Given the description of an element on the screen output the (x, y) to click on. 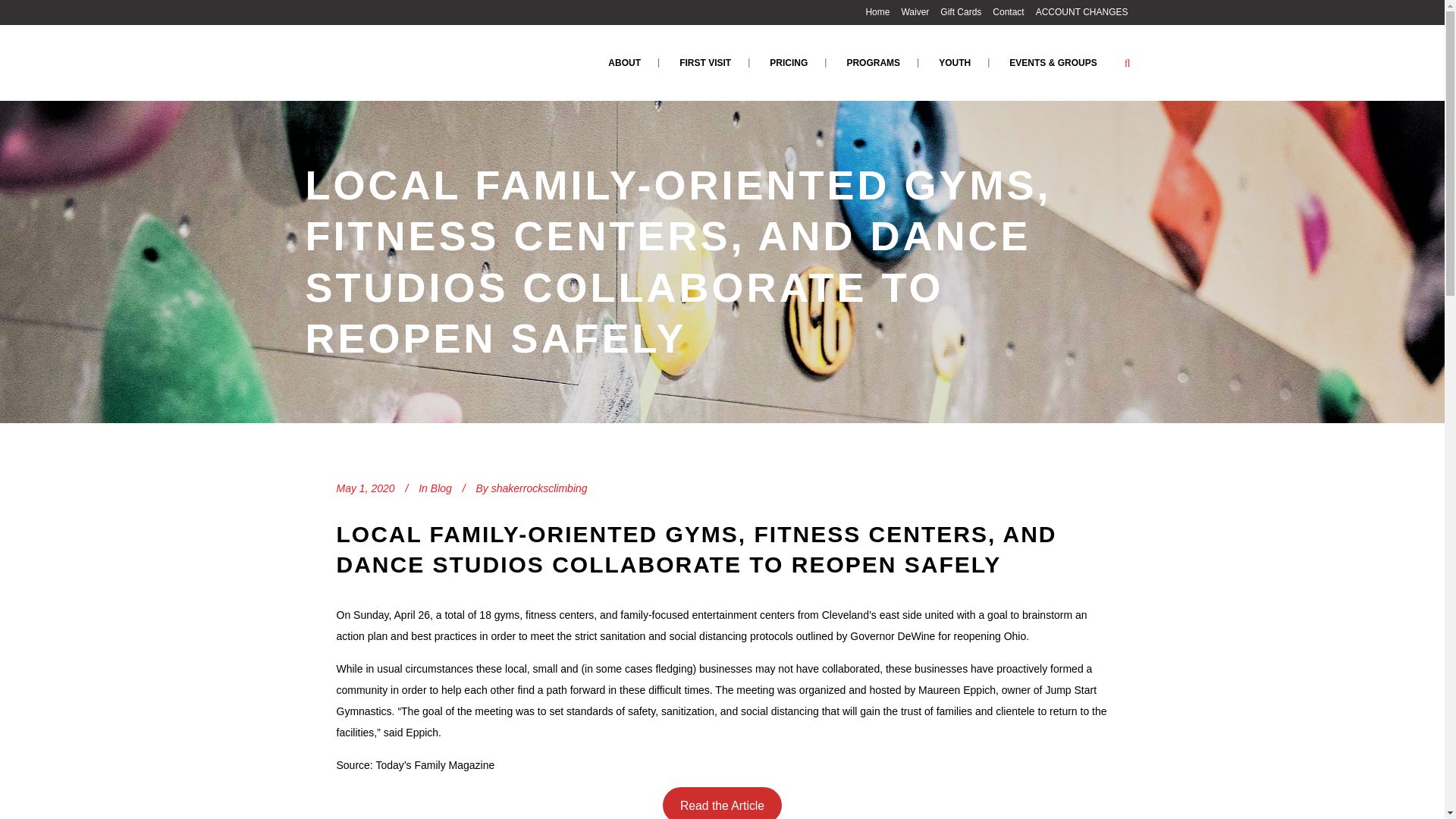
PRICING (788, 62)
ACCOUNT CHANGES (1076, 12)
FIRST VISIT (705, 62)
YOUTH (954, 62)
Home (871, 12)
Gift Cards (954, 12)
Contact (1002, 12)
PROGRAMS (873, 62)
ABOUT (624, 62)
Waiver (908, 12)
